Given the description of an element on the screen output the (x, y) to click on. 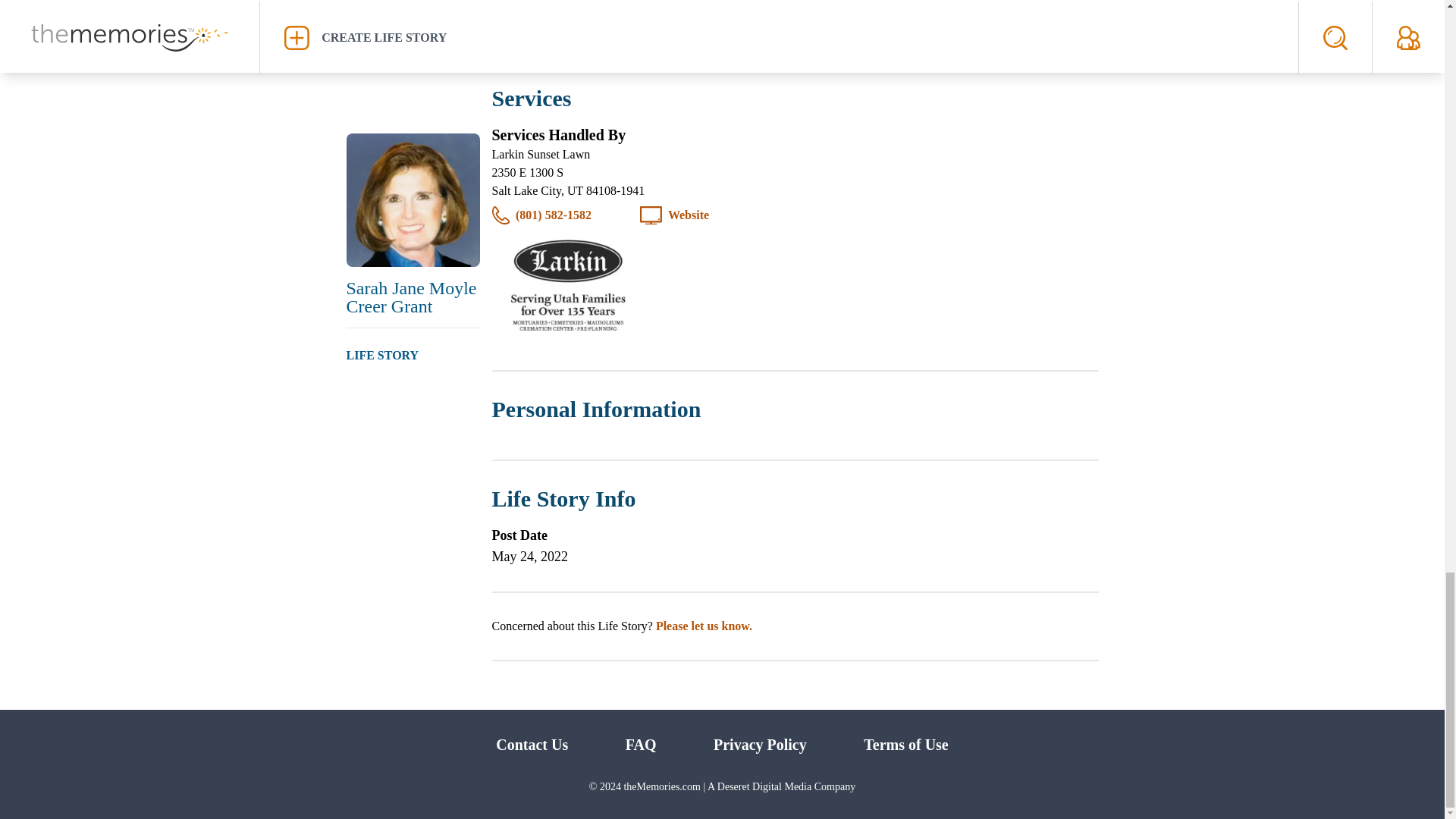
FAQ (641, 744)
Contact Us (531, 744)
Terms of Use (905, 744)
Website (688, 215)
Please let us know. (704, 625)
Privacy Policy (759, 744)
